Given the description of an element on the screen output the (x, y) to click on. 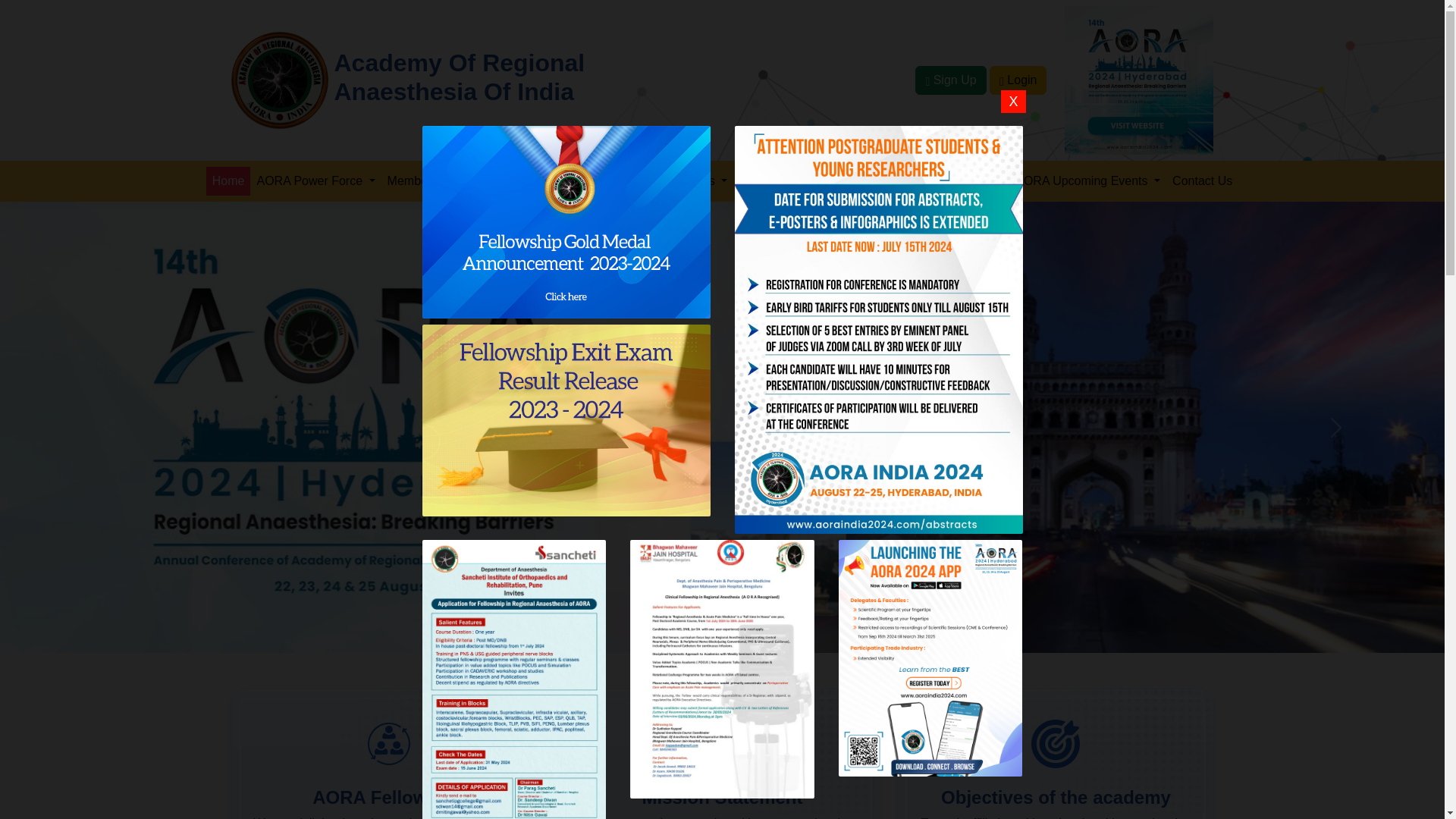
Login (1018, 80)
Gallery (488, 181)
Home (228, 181)
Fellowships (689, 181)
Sign Up (950, 80)
AORA Power Force (315, 181)
Members (419, 181)
AORA Journal - IJRA (582, 181)
Testimonials (779, 181)
